Given the description of an element on the screen output the (x, y) to click on. 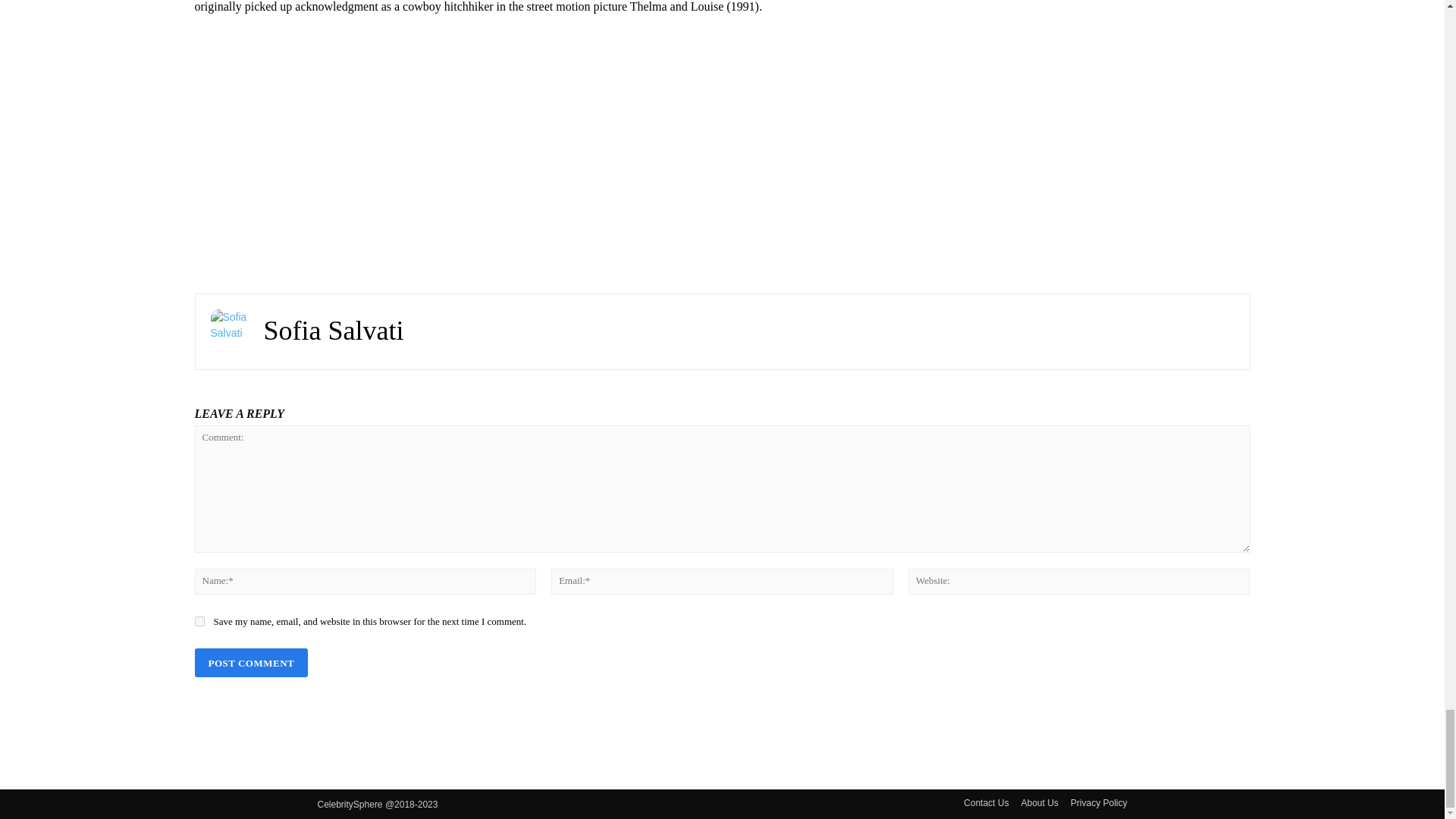
Post Comment (250, 663)
yes (198, 621)
